Given the description of an element on the screen output the (x, y) to click on. 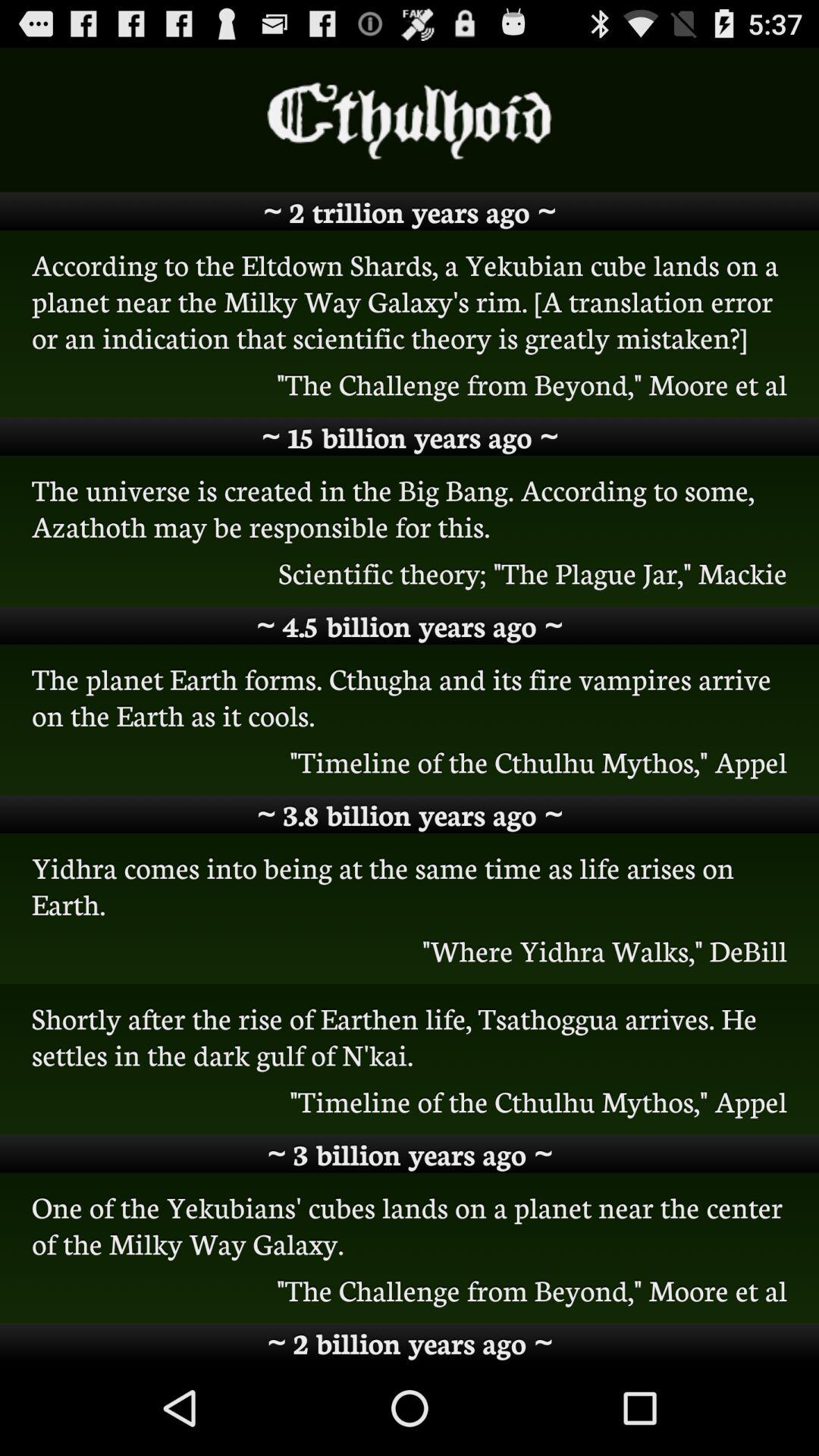
tap the icon above 4 5 billion (409, 572)
